Given the description of an element on the screen output the (x, y) to click on. 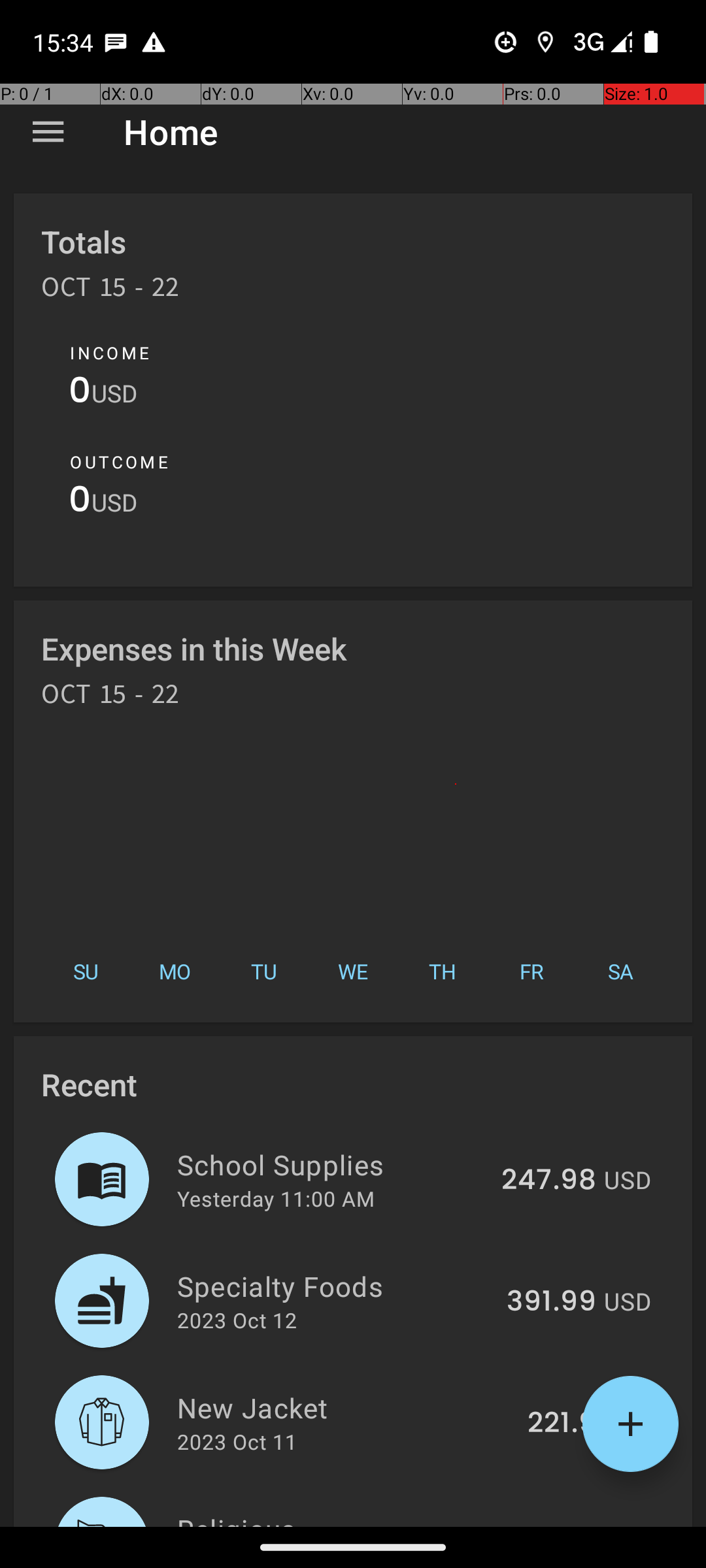
School Supplies Element type: android.widget.TextView (331, 1164)
Yesterday 11:00 AM Element type: android.widget.TextView (275, 1198)
247.98 Element type: android.widget.TextView (548, 1180)
Specialty Foods Element type: android.widget.TextView (334, 1285)
2023 Oct 12 Element type: android.widget.TextView (236, 1320)
391.99 Element type: android.widget.TextView (550, 1301)
New Jacket Element type: android.widget.TextView (344, 1407)
2023 Oct 11 Element type: android.widget.TextView (236, 1441)
221.9 Element type: android.widget.TextView (561, 1423)
Religious Element type: android.widget.TextView (335, 1518)
177.54 Element type: android.widget.TextView (552, 1524)
